Given the description of an element on the screen output the (x, y) to click on. 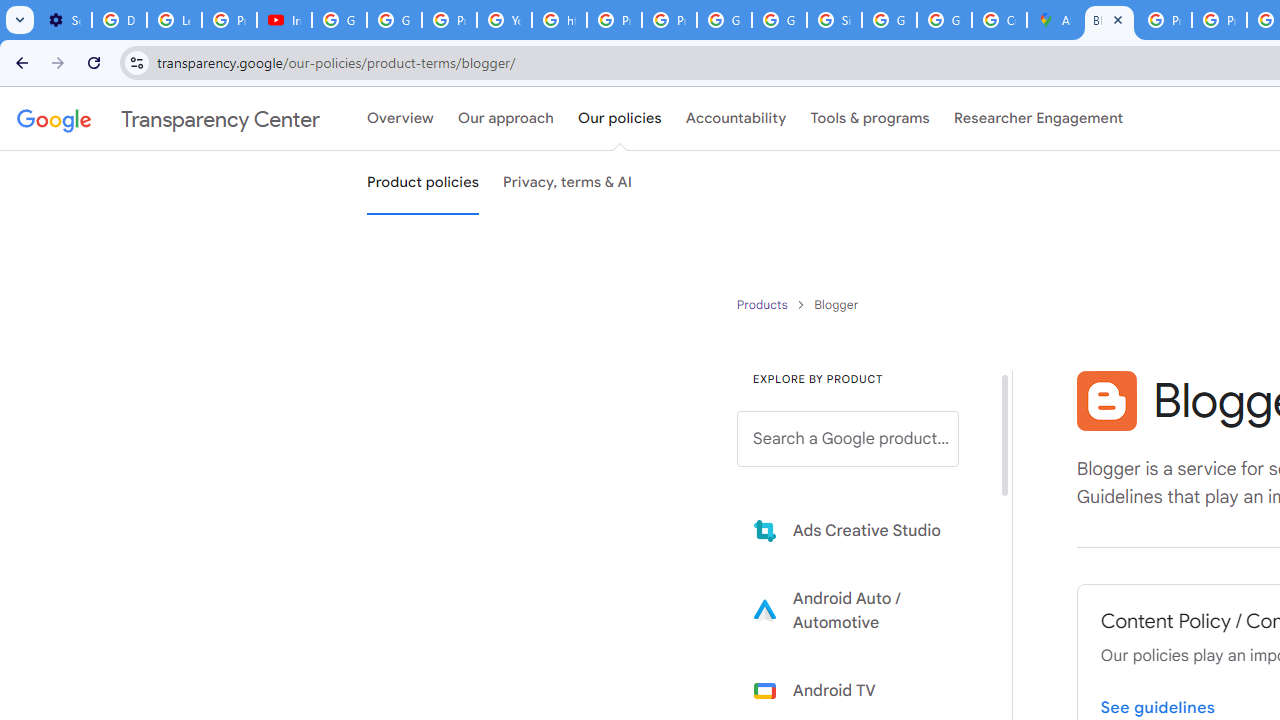
Sign in - Google Accounts (833, 20)
Transparency Center (167, 119)
Create your Google Account (998, 20)
Learn how to find your photos - Google Photos Help (174, 20)
Delete photos & videos - Computer - Google Photos Help (119, 20)
YouTube (504, 20)
Privacy, terms & AI (568, 183)
Tools & programs (869, 119)
Blogger (1106, 400)
Introduction | Google Privacy Policy - YouTube (284, 20)
